Given the description of an element on the screen output the (x, y) to click on. 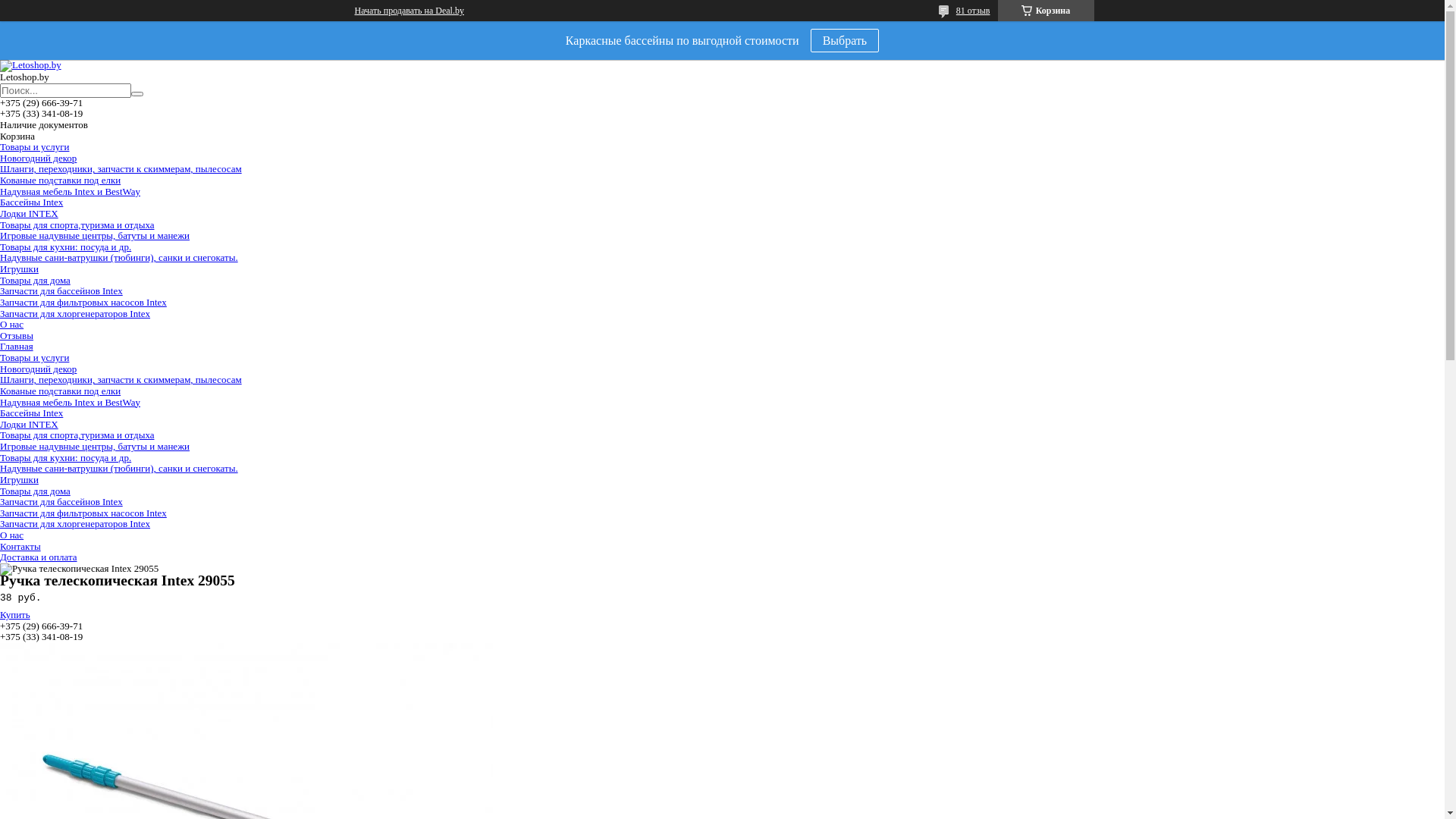
Letoshop.by Element type: hover (30, 64)
